Given the description of an element on the screen output the (x, y) to click on. 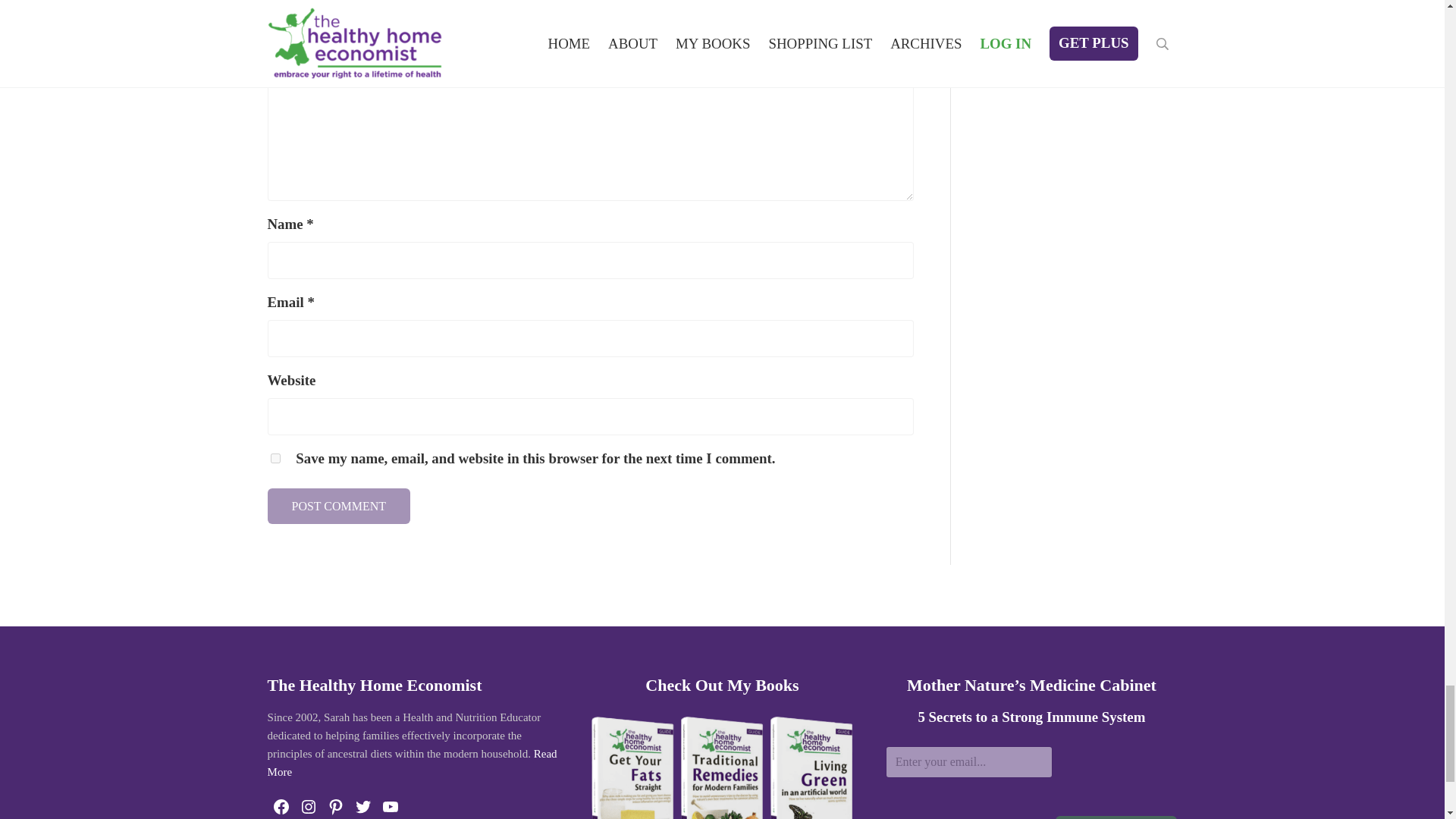
yes (274, 458)
Post Comment (338, 505)
